Given the description of an element on the screen output the (x, y) to click on. 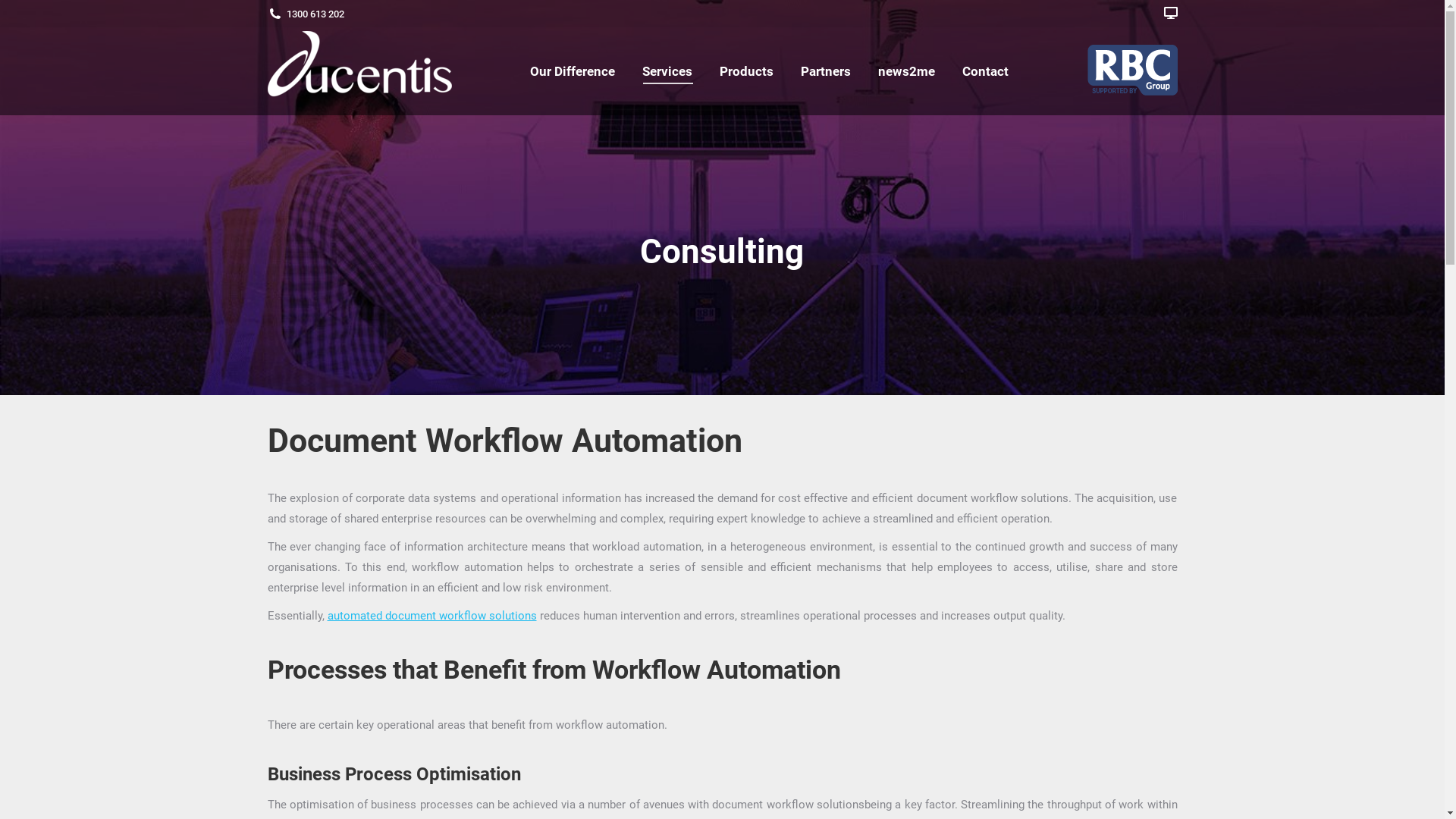
Partners Element type: text (825, 70)
Products Element type: text (746, 70)
1300 613 202 Element type: text (304, 13)
Contact Element type: text (985, 70)
automated document workflow solutions Element type: text (431, 615)
news2me Element type: text (906, 70)
Our Difference Element type: text (572, 70)
Services Element type: text (667, 70)
